Given the description of an element on the screen output the (x, y) to click on. 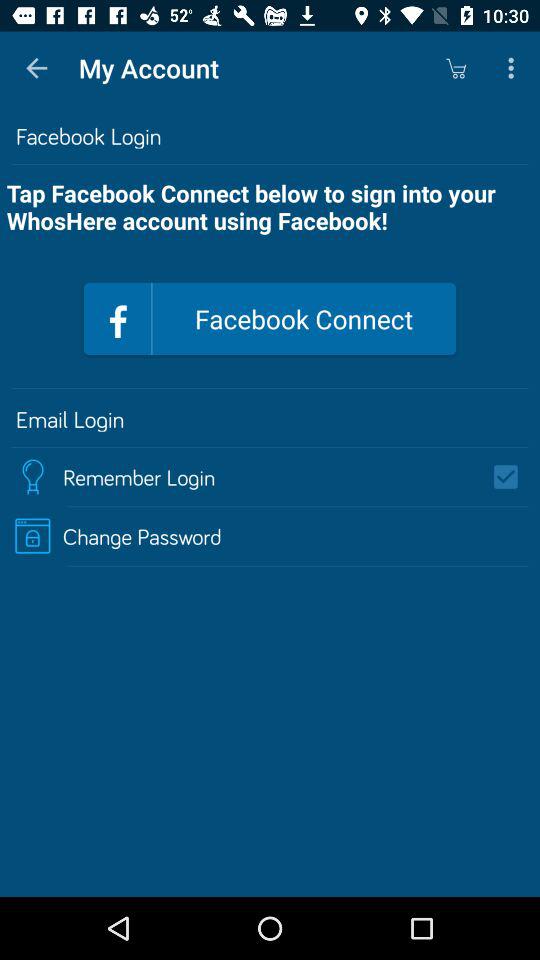
launch icon next to the remember login (512, 476)
